Given the description of an element on the screen output the (x, y) to click on. 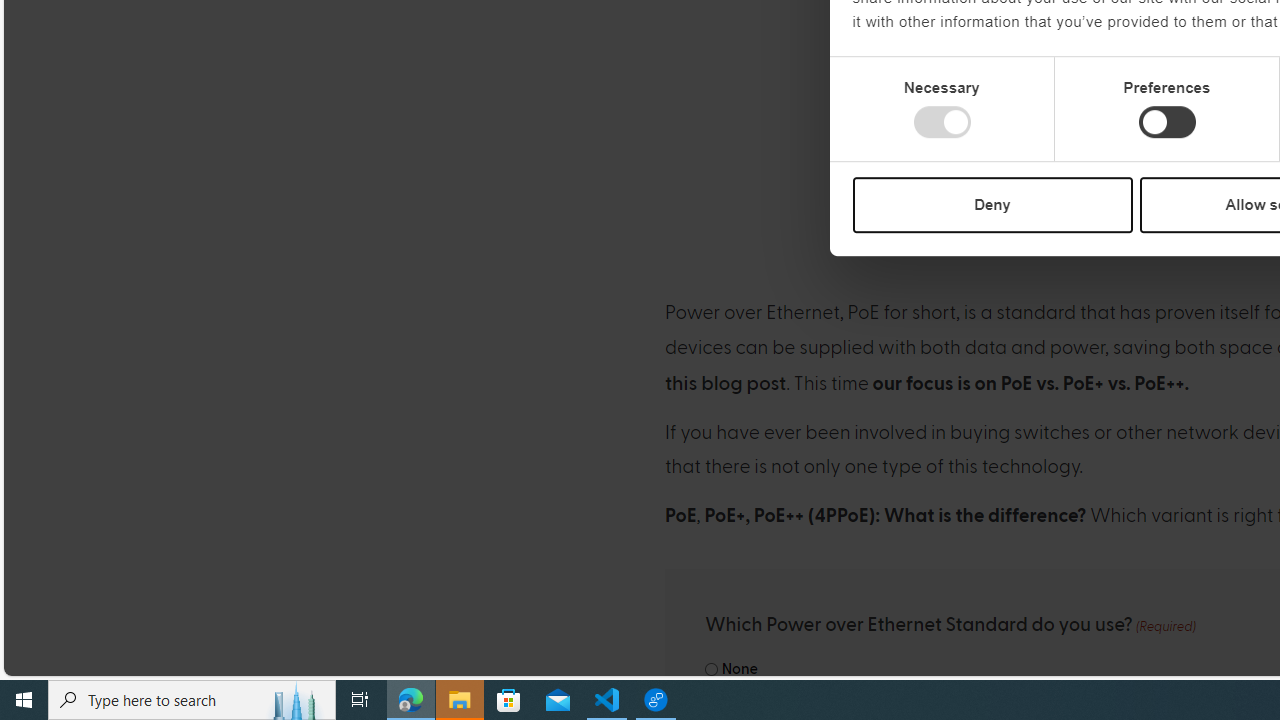
None (711, 669)
Necessary (941, 121)
Preferences (1166, 121)
Deny (992, 204)
